Given the description of an element on the screen output the (x, y) to click on. 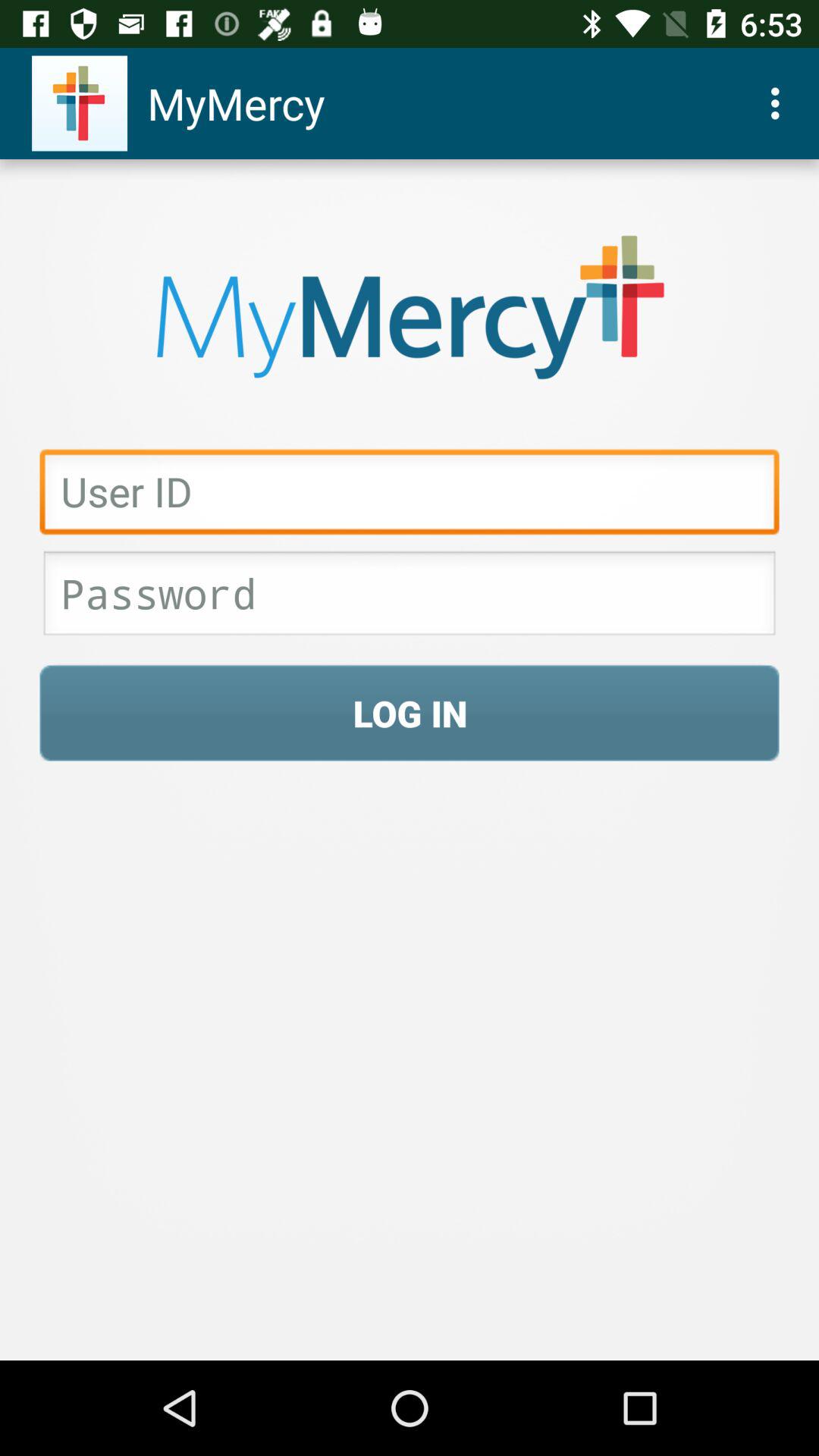
password field (409, 597)
